Given the description of an element on the screen output the (x, y) to click on. 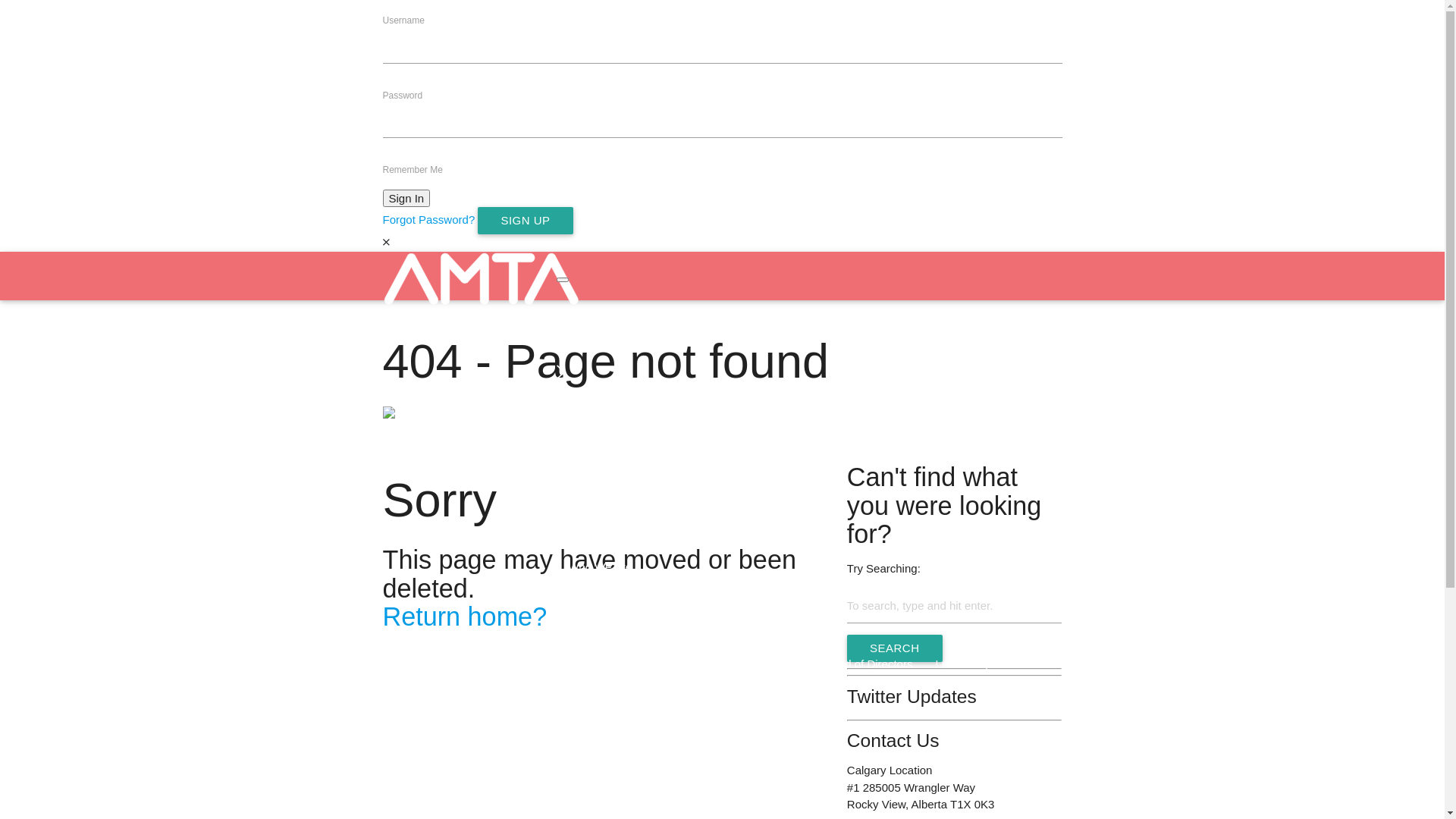
Leadership Element type: text (962, 664)
Login Element type: text (808, 371)
SEARCH Element type: text (894, 648)
Truckers Against Trafficking Element type: text (728, 664)
Privacy Policy Element type: text (602, 712)
SIGN UP Element type: text (524, 220)
Return home? Element type: text (464, 616)
Sign In Element type: text (405, 198)
RFPs Element type: text (675, 761)
Careers at AMTA Element type: text (704, 712)
#NotInMyCity Element type: text (601, 664)
Board of Directors Element type: text (866, 664)
Forgot Password? Element type: text (428, 219)
search
clear Element type: text (808, 493)
Vision & Mission Statement Element type: text (889, 615)
Logoutx Element type: text (576, 420)
Community Engagement Element type: text (682, 615)
Who We Are Element type: text (808, 566)
